Given the description of an element on the screen output the (x, y) to click on. 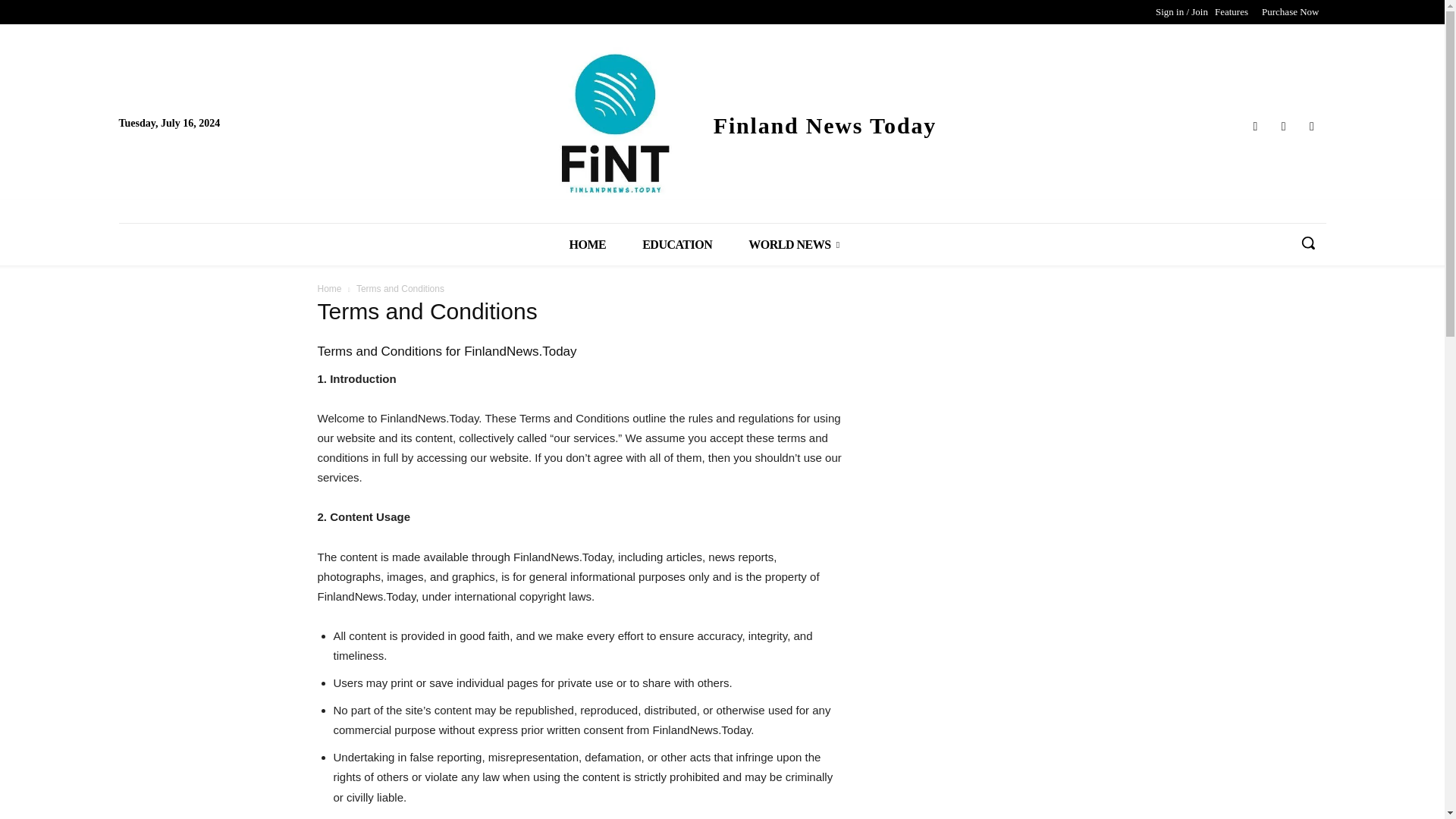
 Finland News Today  (603, 124)
Purchase Now (1289, 12)
Twitter (1283, 126)
Facebook (1254, 126)
Features (1231, 12)
Finland News Today (878, 124)
 Finland News Today  (878, 124)
Youtube (1311, 126)
EDUCATION (677, 244)
WORLD NEWS (793, 244)
HOME (587, 244)
